Given the description of an element on the screen output the (x, y) to click on. 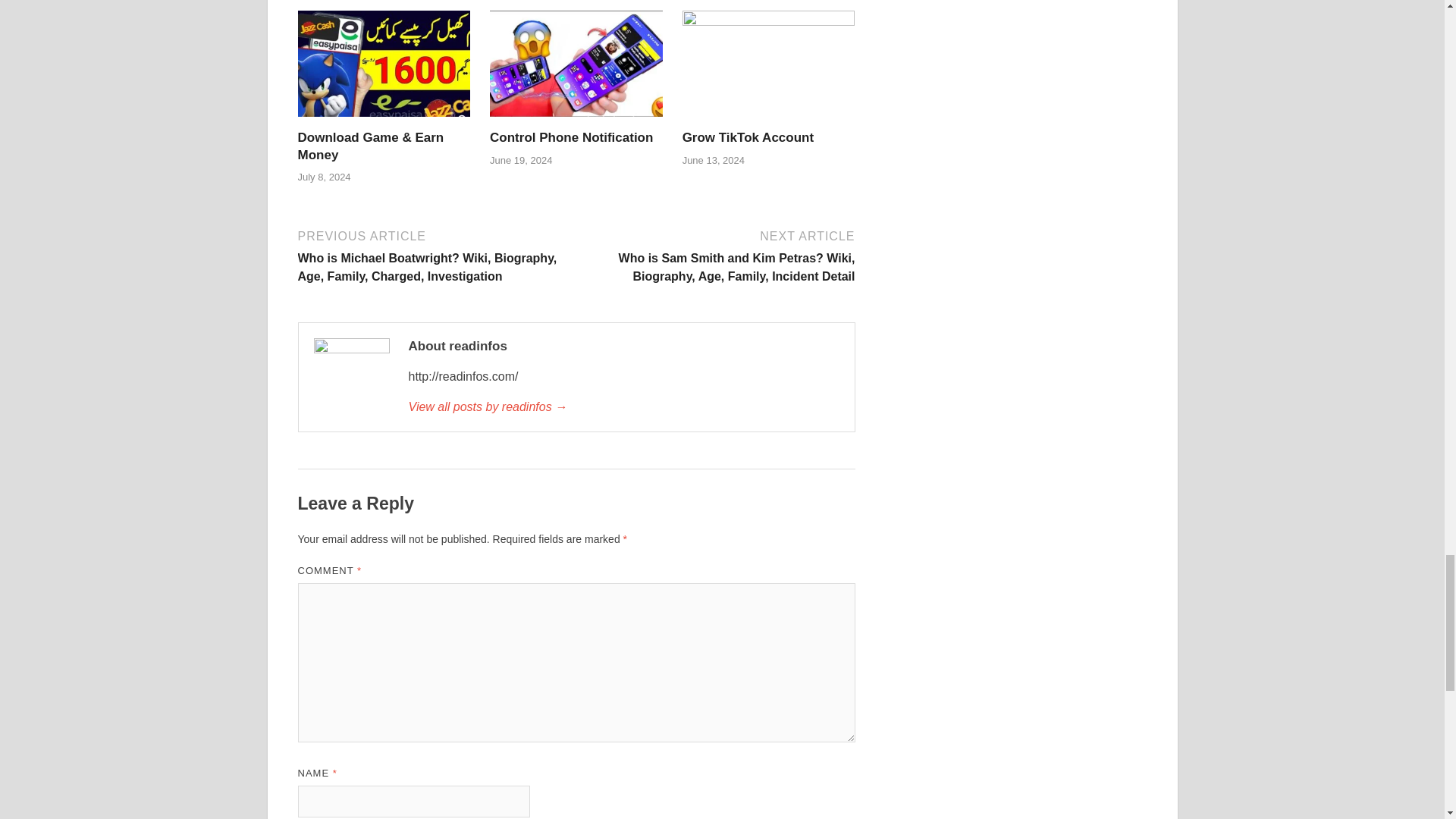
Control Phone Notification (575, 69)
Grow TikTok Account (747, 137)
Grow TikTok Account (769, 69)
Control Phone Notification (570, 137)
Grow TikTok Account (747, 137)
Control Phone Notification (570, 137)
readinfos (622, 407)
